Given the description of an element on the screen output the (x, y) to click on. 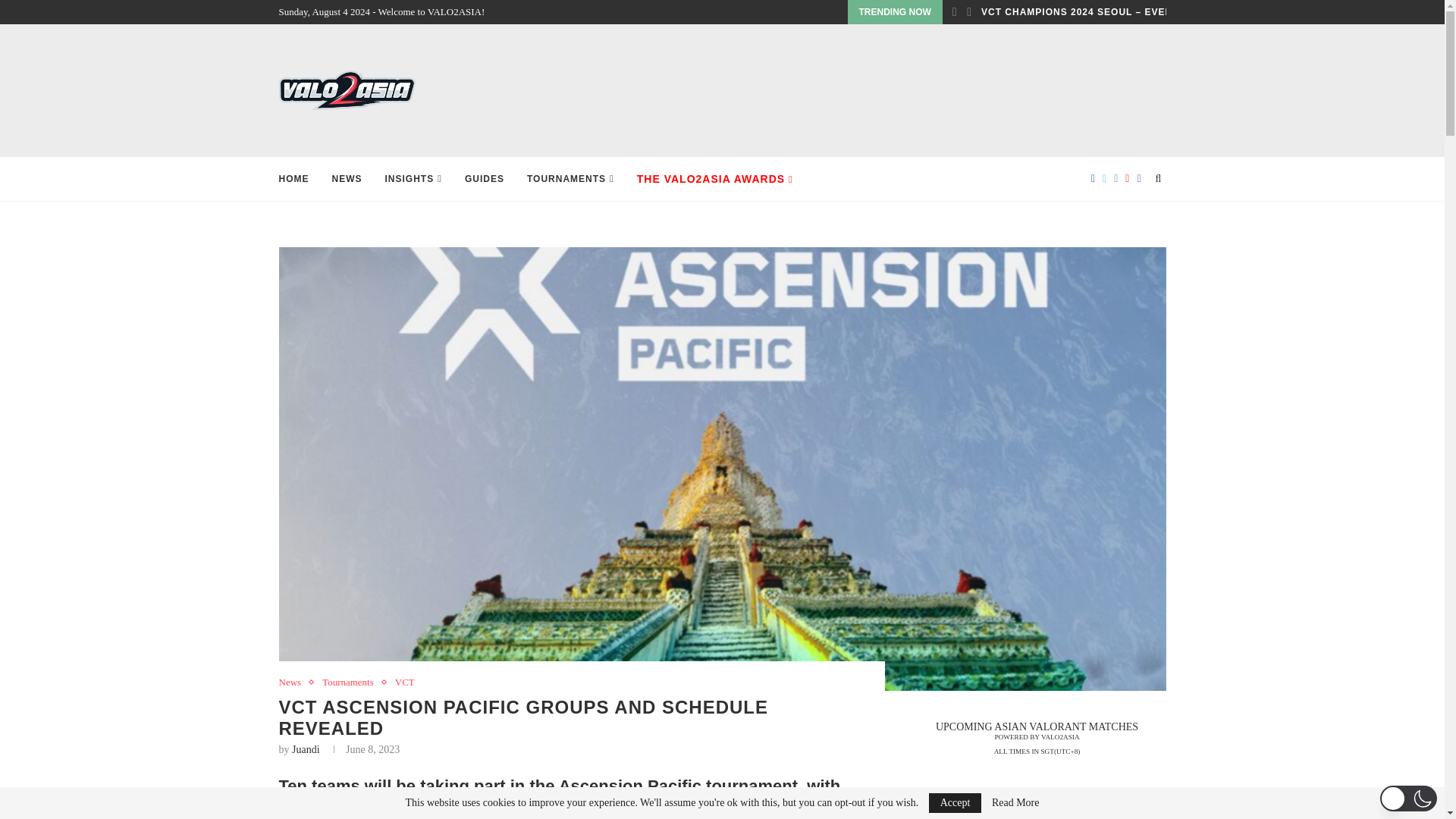
INSIGHTS (413, 178)
TOURNAMENTS (570, 178)
THE VALO2ASIA AWARDS (715, 179)
GUIDES (483, 178)
Advertisement (1021, 813)
Advertisement (890, 88)
